Given the description of an element on the screen output the (x, y) to click on. 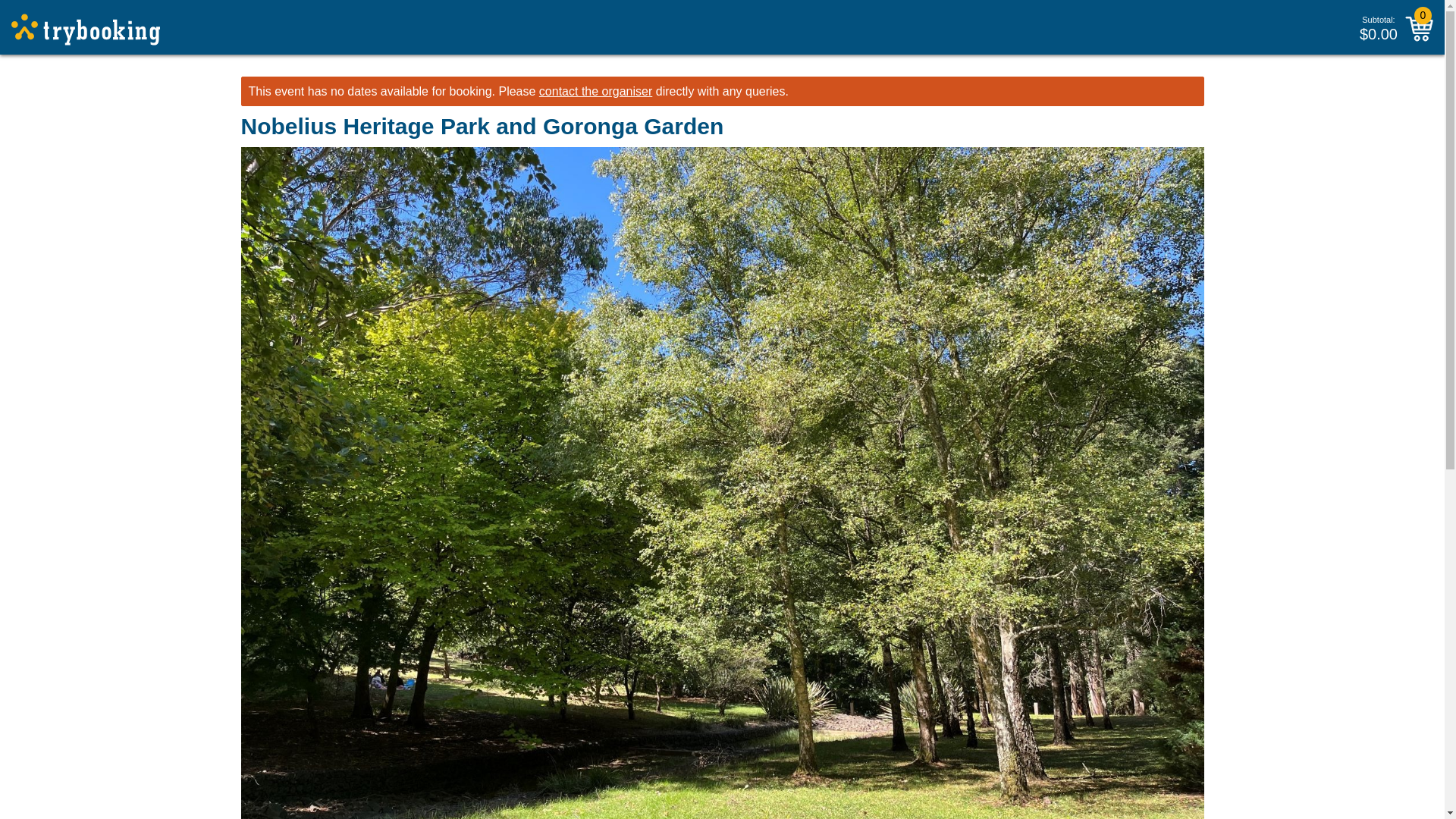
TryBooking (85, 29)
contact the organiser (595, 91)
